Given the description of an element on the screen output the (x, y) to click on. 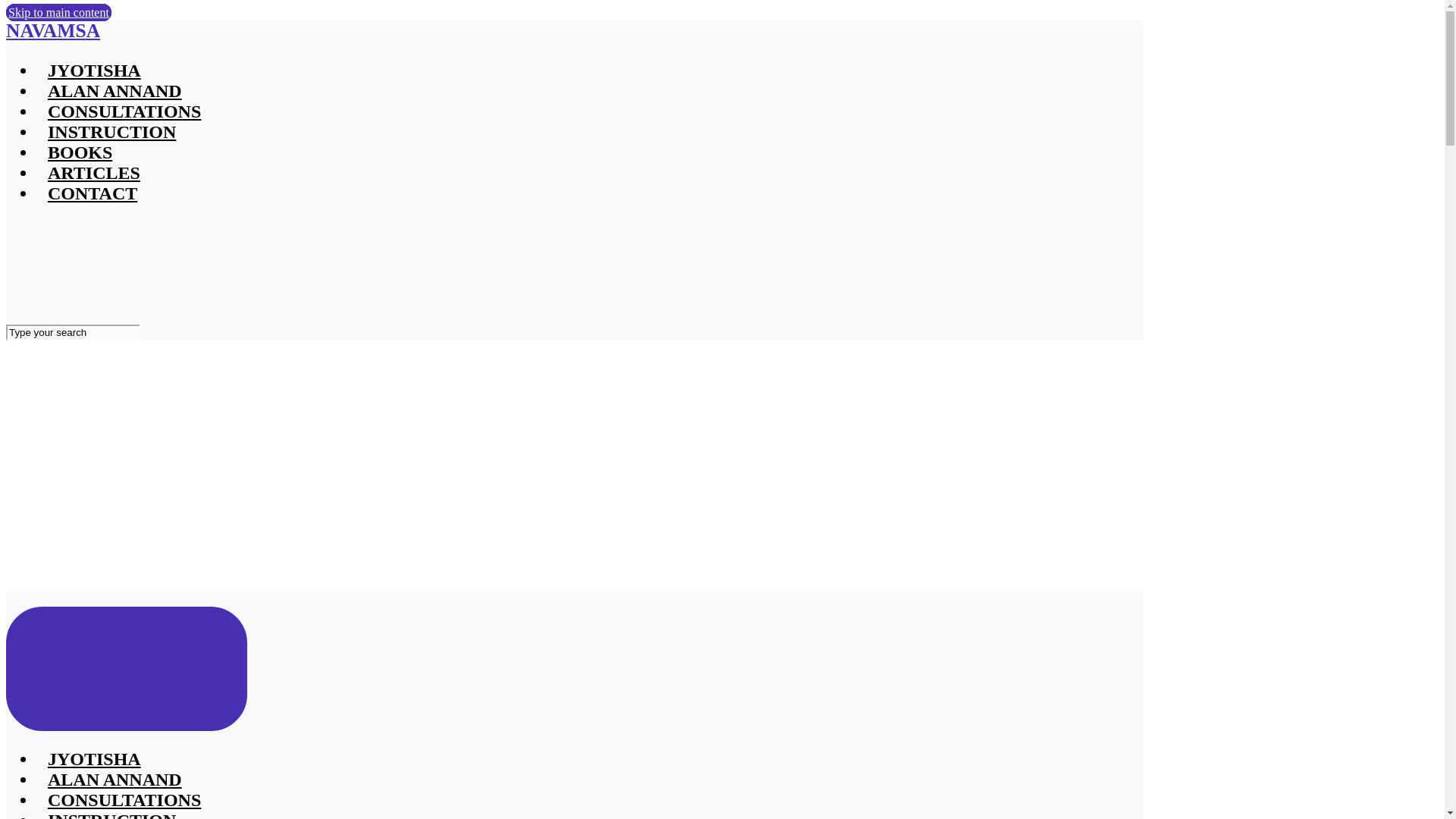
NAVAMSA (146, 451)
CONTACT (92, 193)
ALAN ANNAND (115, 90)
CONSULTATIONS (124, 111)
ARTICLES (93, 172)
CONSULTATIONS (124, 799)
ALAN ANNAND (115, 779)
NAVAMSA (52, 30)
JYOTISHA (94, 70)
INSTRUCTION (112, 131)
BOOKS (80, 152)
INSTRUCTION (112, 814)
Skip to main content (58, 12)
JYOTISHA (94, 759)
